Given the description of an element on the screen output the (x, y) to click on. 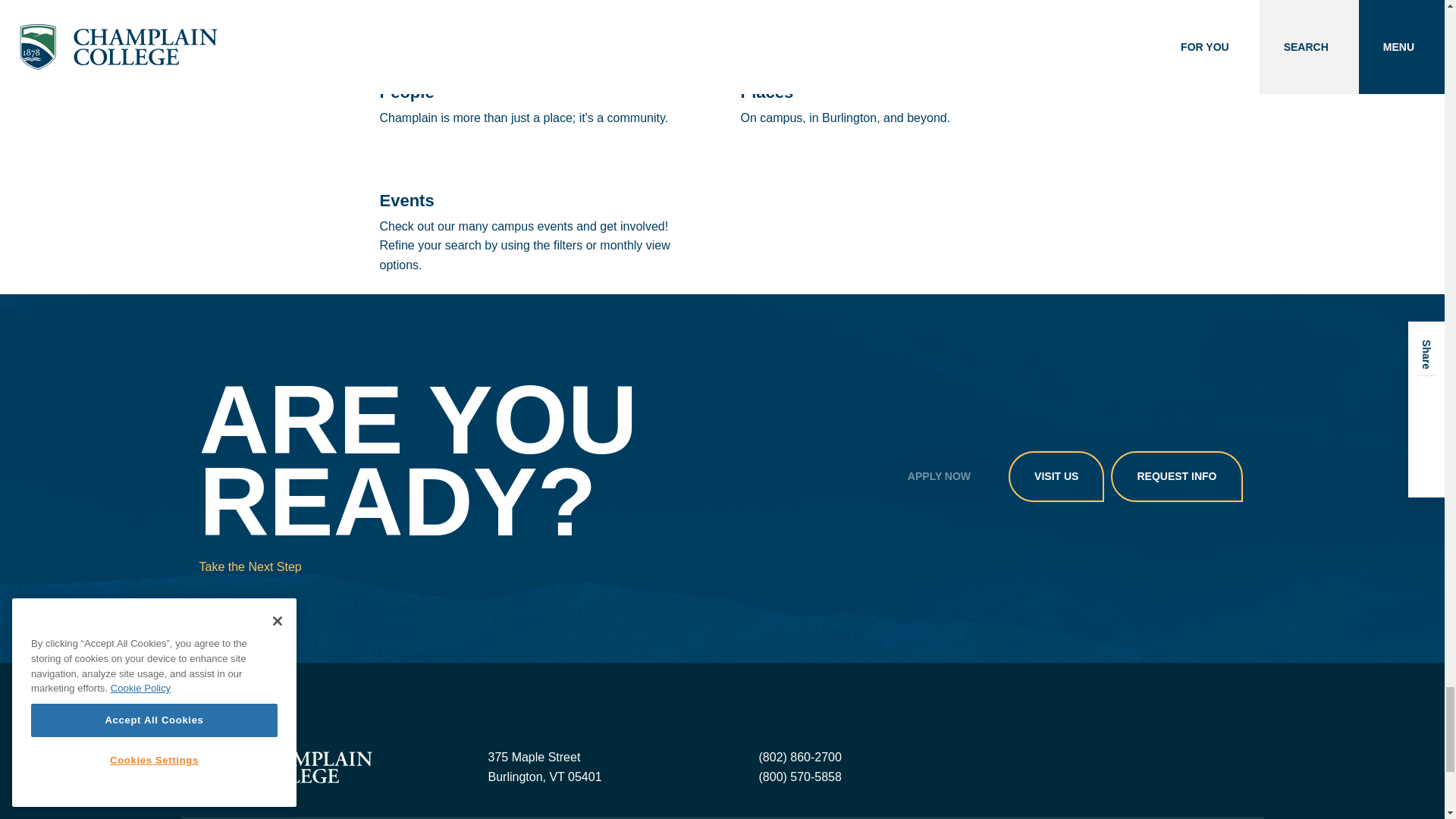
Champlain College (285, 767)
